Given the description of an element on the screen output the (x, y) to click on. 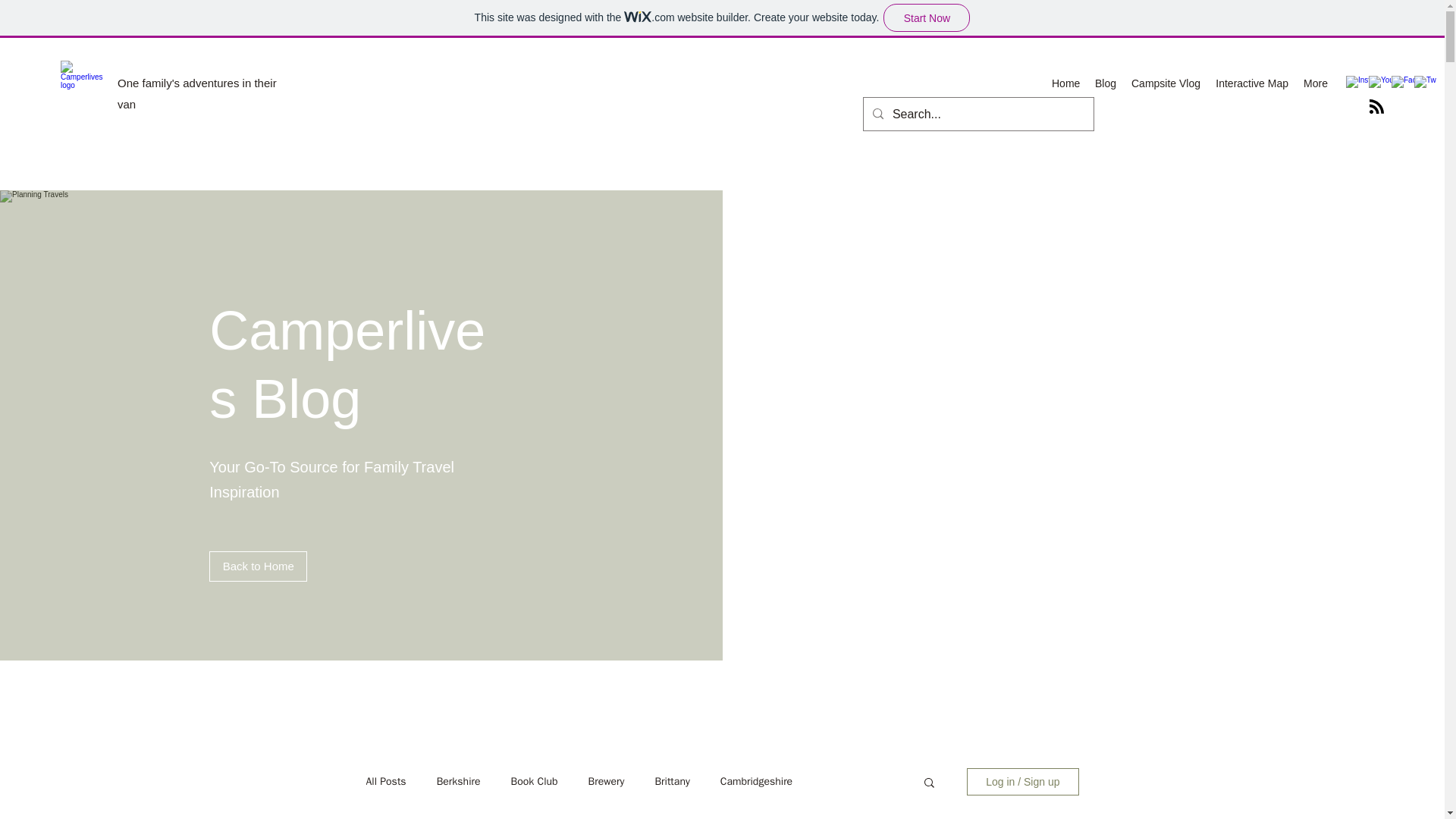
Blog (1105, 83)
Home (1065, 83)
Brittany (670, 781)
All Posts (385, 781)
Campsite Vlog (1166, 83)
Berkshire (458, 781)
Cambridgeshire (756, 781)
Book Club (534, 781)
Brewery (606, 781)
Back to Home (258, 566)
